Given the description of an element on the screen output the (x, y) to click on. 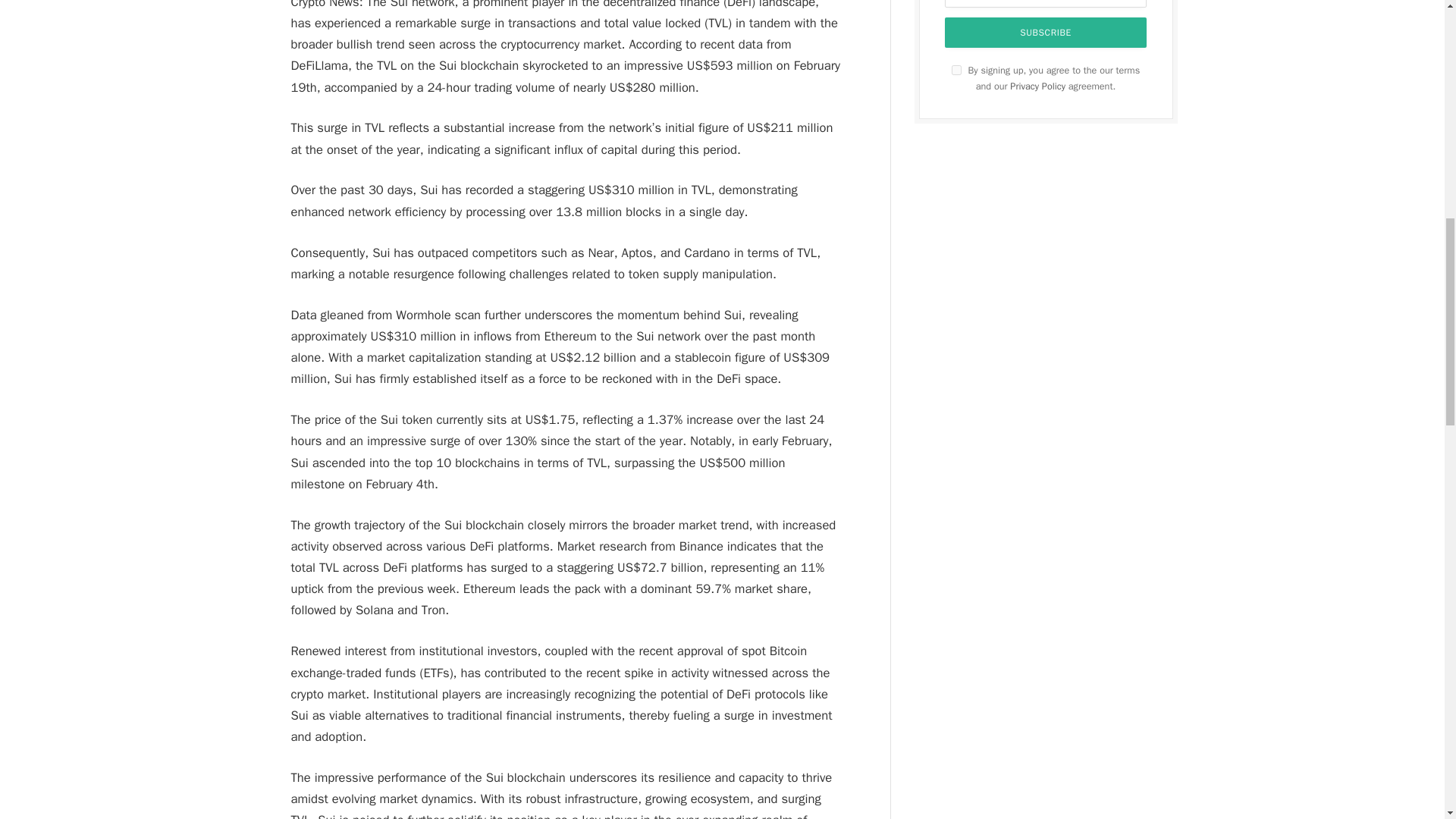
Subscribe (1045, 32)
on (956, 70)
